Given the description of an element on the screen output the (x, y) to click on. 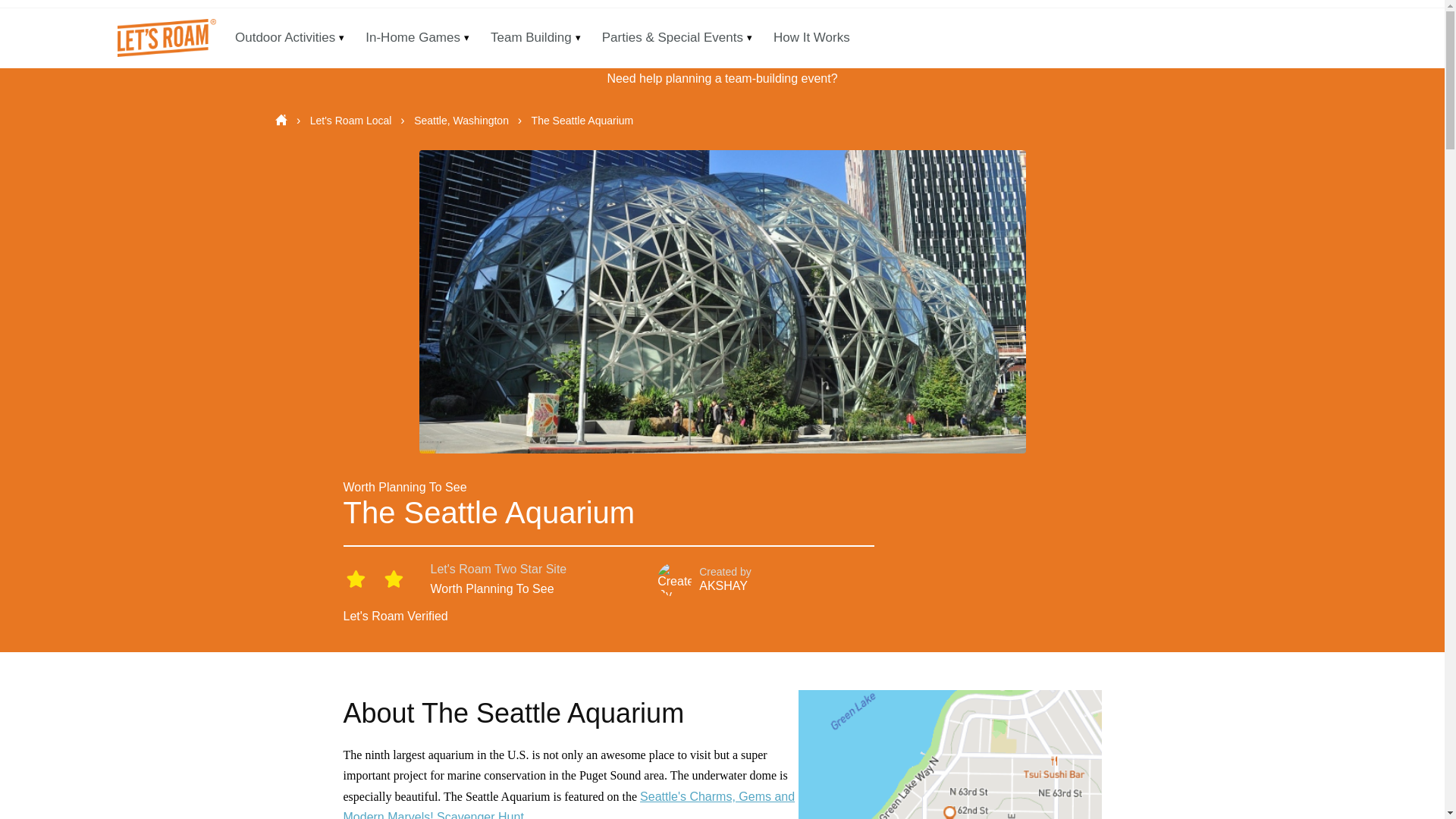
Let's Roam Local (352, 120)
Outdoor Activities (284, 37)
Team Building (531, 37)
Let's Roam Scavenger Hunts (164, 37)
Team Building (531, 37)
In-Home Games (413, 37)
Outdoor Activities (284, 37)
In-Home Games (413, 37)
Seattle, Washington (462, 120)
How It Works (811, 37)
The Seattle Aquarium (582, 120)
